Given the description of an element on the screen output the (x, y) to click on. 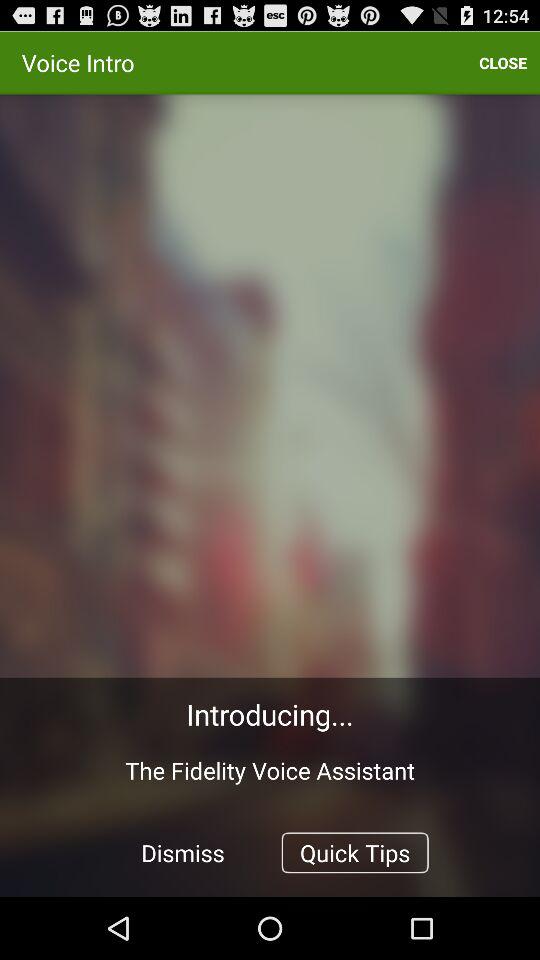
select the item below the the fidelity voice icon (354, 852)
